Given the description of an element on the screen output the (x, y) to click on. 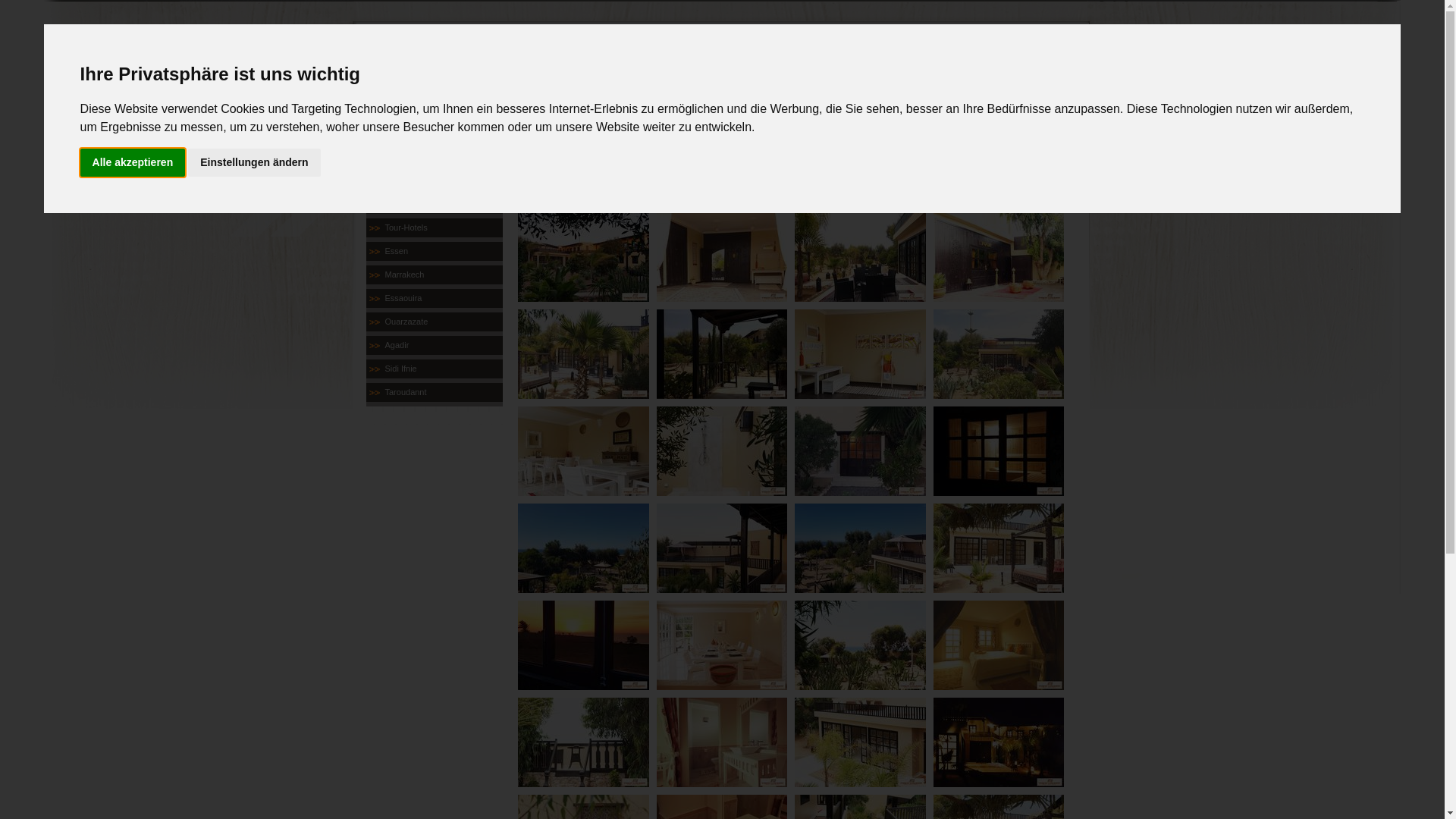
Taroudannt Element type: text (433, 391)
KONTAKT Element type: text (897, 153)
TIGERLOUNGE - Hotel/Club Lounge Element type: hover (582, 295)
Ouarzazate Element type: text (433, 321)
TIGERLOUNGE CLUB Element type: text (433, 203)
Essaouira Element type: text (433, 297)
Agadir Element type: text (433, 344)
BUCHEN/TERMINE Element type: text (660, 153)
Marrakech Element type: text (433, 274)
FOTO GALERIE Element type: text (778, 153)
Tour-Hotels Element type: text (433, 227)
Essen Element type: text (433, 250)
Alle akzeptieren Element type: text (132, 162)
TOUR-ANGEBOTE Element type: text (542, 153)
Sidi Ifnie Element type: text (433, 368)
